Given the description of an element on the screen output the (x, y) to click on. 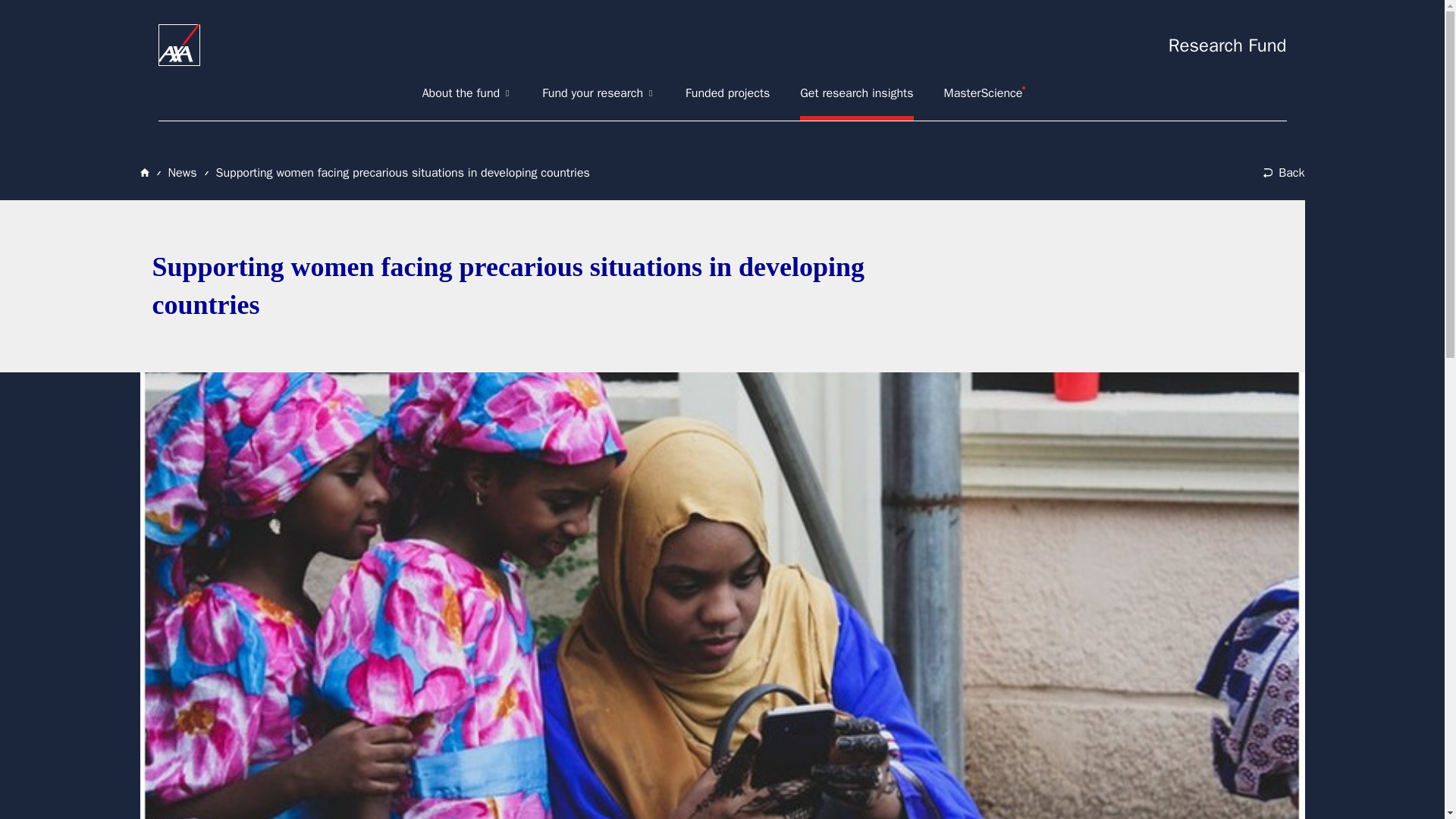
Back (1283, 172)
Fund your research (598, 93)
Get research insights (855, 93)
MasterScience (983, 93)
Funded projects (727, 93)
About the fund (467, 93)
News (182, 172)
